Given the description of an element on the screen output the (x, y) to click on. 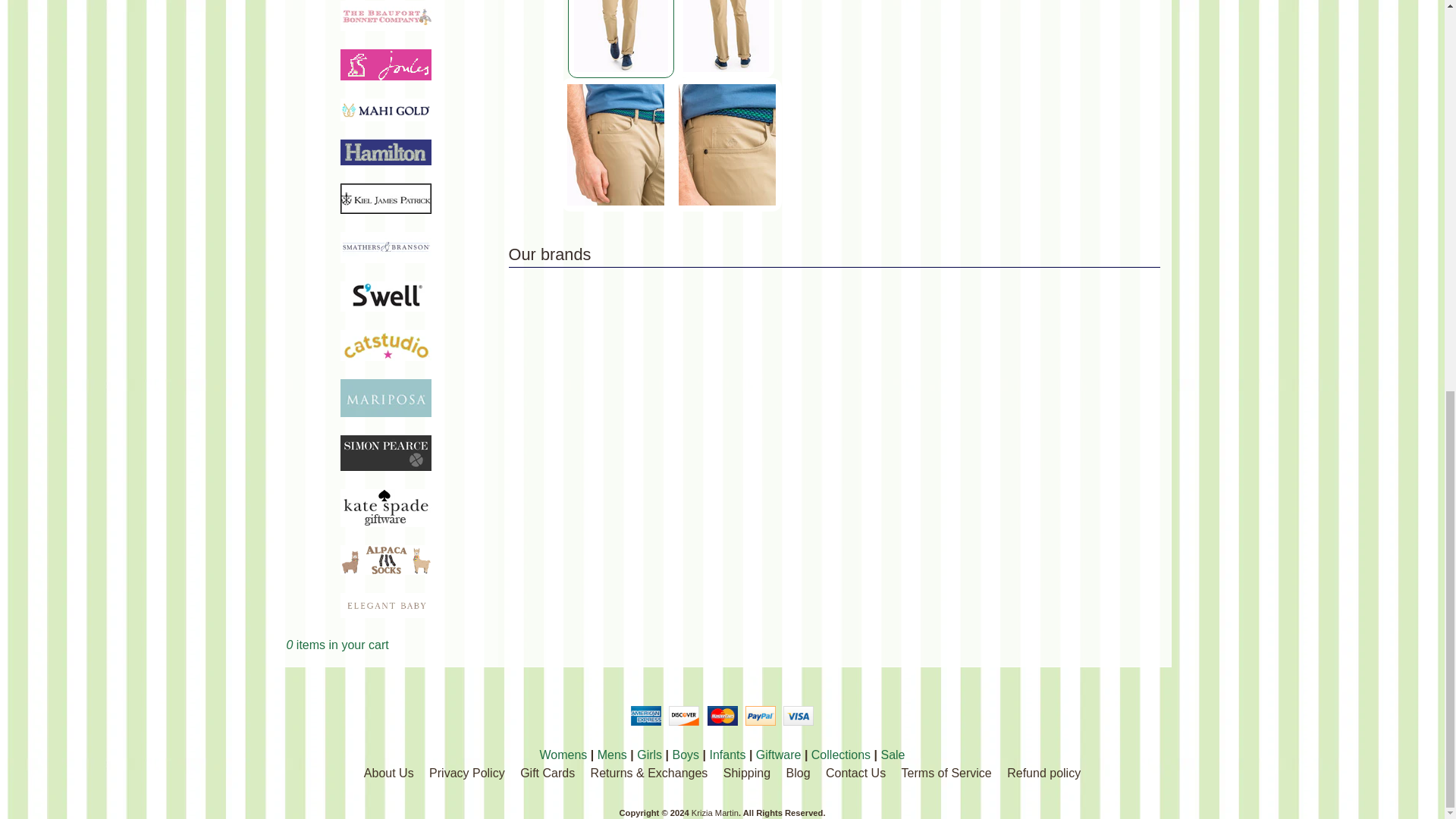
Our brands (834, 255)
Our brands (834, 255)
